Given the description of an element on the screen output the (x, y) to click on. 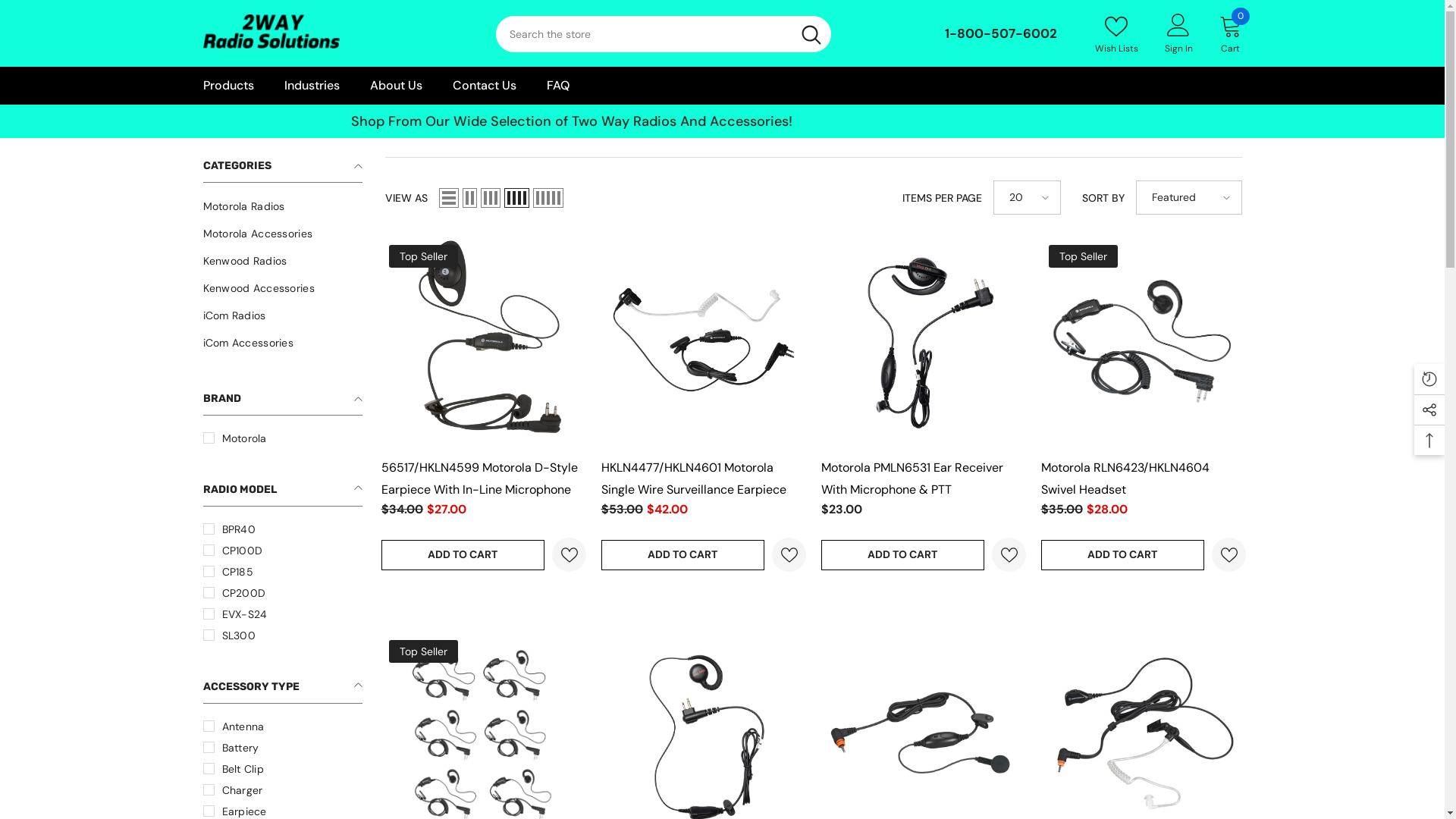
ADD TO CART Element type: text (1121, 554)
FAQ Element type: text (556, 85)
Kenwood Accessories Element type: text (258, 287)
Add to wishlist Element type: text (569, 554)
Add to wishlist Element type: text (1008, 554)
Motorola RLN6423/HKLN4604 Swivel Headset Element type: text (1124, 478)
iCom Radios Element type: text (234, 315)
user
Sign In Element type: text (1178, 33)
Kenwood Radios Element type: text (245, 260)
About Us Element type: text (395, 85)
ADD TO CART Element type: text (681, 554)
Contact Us Element type: text (483, 85)
Motorola Radios Element type: text (244, 205)
Motorola PMLN6531 Ear Receiver With Microphone & PTT Element type: text (911, 478)
Add to wishlist Element type: text (788, 554)
Wish Lists Element type: text (1116, 33)
ADD TO CART Element type: text (901, 554)
Industries Element type: text (311, 85)
1-800-507-6002 Element type: text (1000, 32)
iCom Accessories Element type: text (248, 342)
Cart
0
0 items Element type: text (1230, 33)
Products Element type: text (228, 85)
Motorola Accessories Element type: text (258, 233)
ADD TO CART Element type: text (461, 554)
HKLN4477/HKLN4601 Motorola Single Wire Surveillance Earpiece Element type: text (692, 478)
Add to wishlist Element type: text (1228, 554)
